Given the description of an element on the screen output the (x, y) to click on. 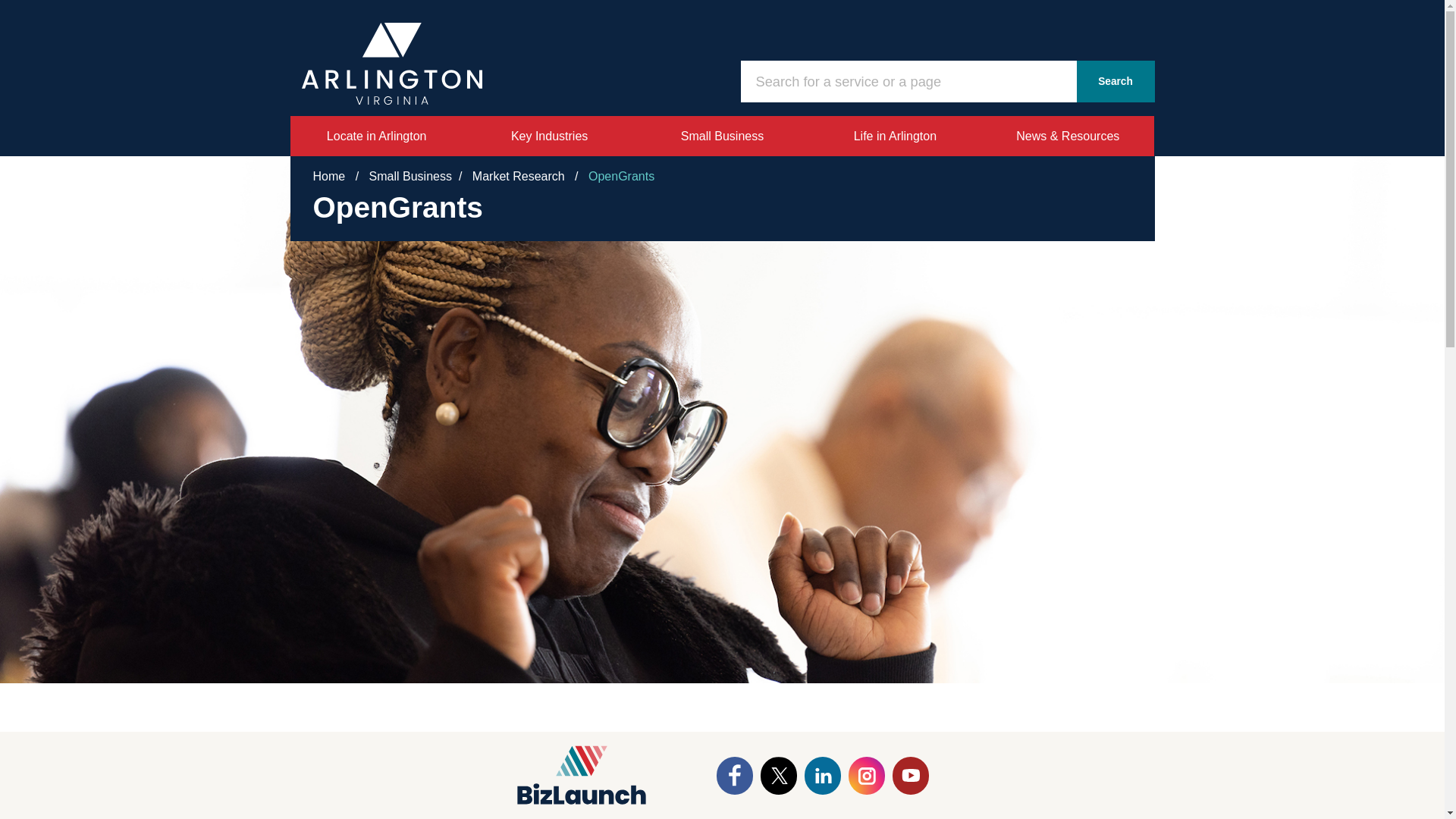
Locate in Arlington (376, 136)
Arlington Economic Development - Home - Logo (391, 63)
Key Industries (549, 136)
Small Business (722, 136)
Search (1115, 81)
Search (1115, 81)
Search (1115, 81)
